Given the description of an element on the screen output the (x, y) to click on. 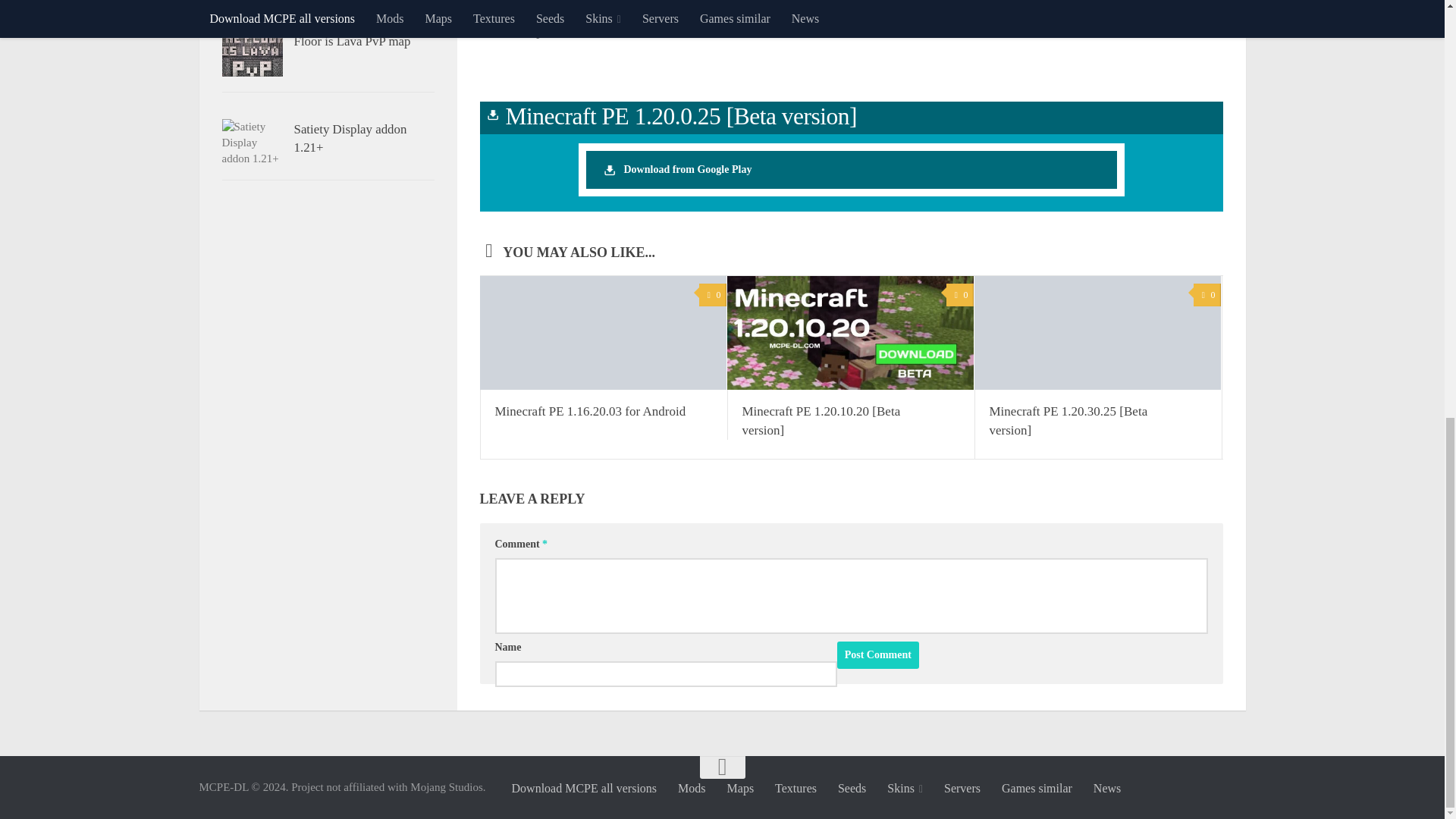
Post Comment (877, 655)
Permalink to Minecraft PE 1.16.20.03 for Android (590, 411)
